Given the description of an element on the screen output the (x, y) to click on. 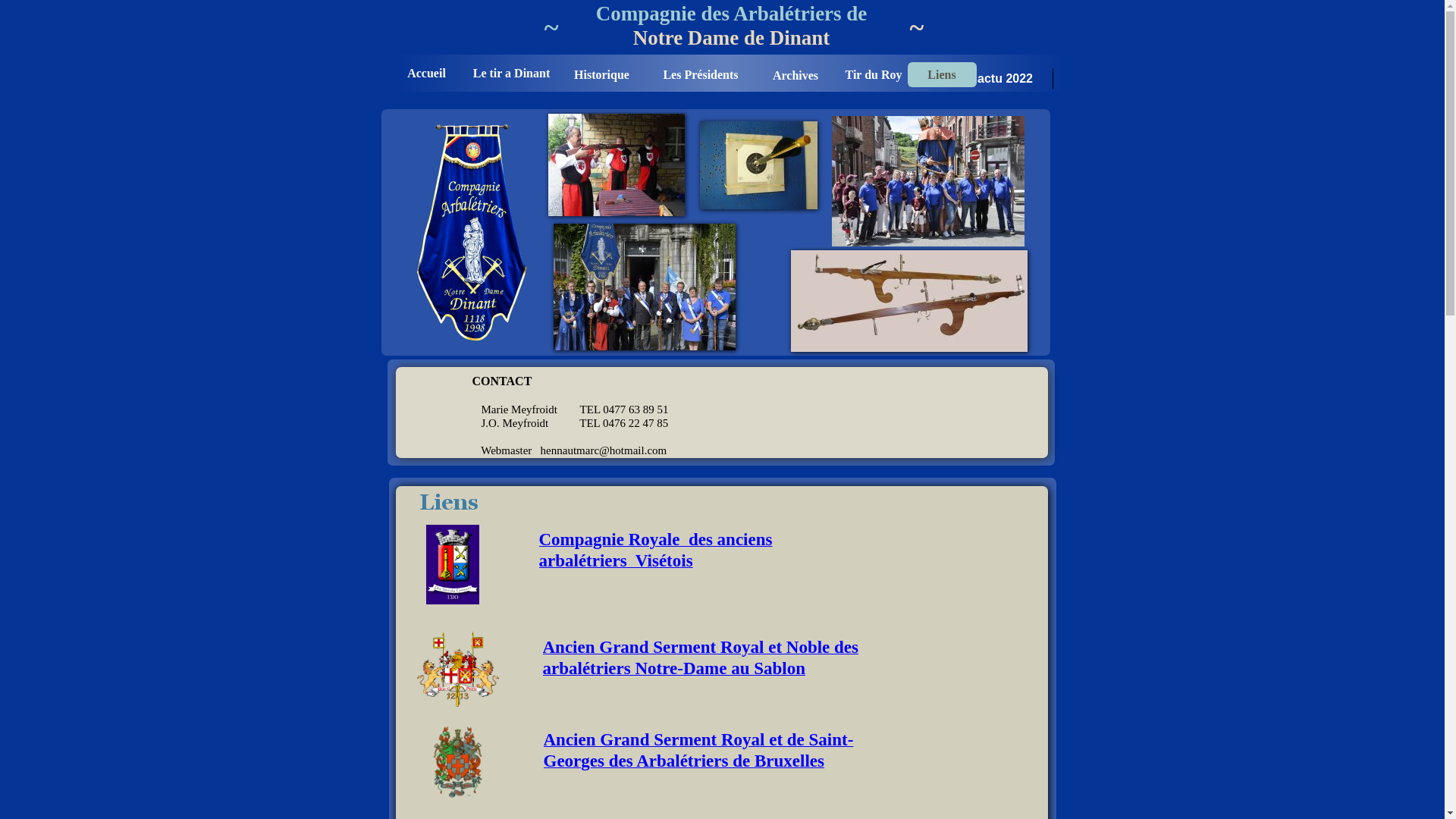
Liens Element type: text (940, 74)
Le tir a Dinant Element type: text (510, 72)
Archives Element type: text (795, 74)
Le tir a Dinant Element type: text (511, 72)
Liens Element type: text (941, 74)
Historique Element type: text (601, 74)
Tir du Roy Element type: text (872, 74)
actu 2022 Element type: text (1004, 78)
  Element type: text (381, 6)
Accueil Element type: text (425, 72)
Accueil Element type: text (426, 72)
Tir du Roy Element type: text (872, 74)
